Given the description of an element on the screen output the (x, y) to click on. 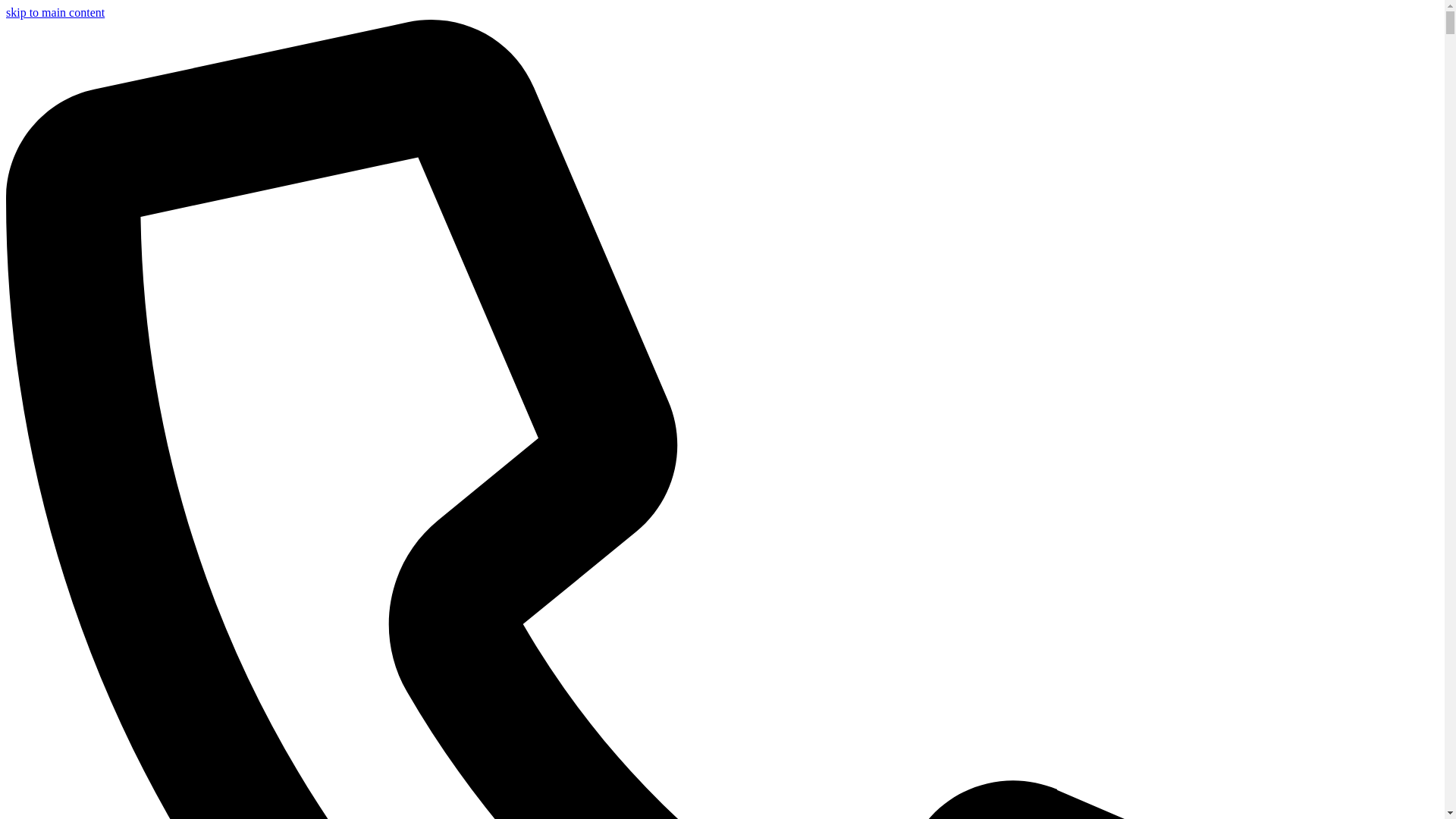
skip to main content (54, 11)
